Given the description of an element on the screen output the (x, y) to click on. 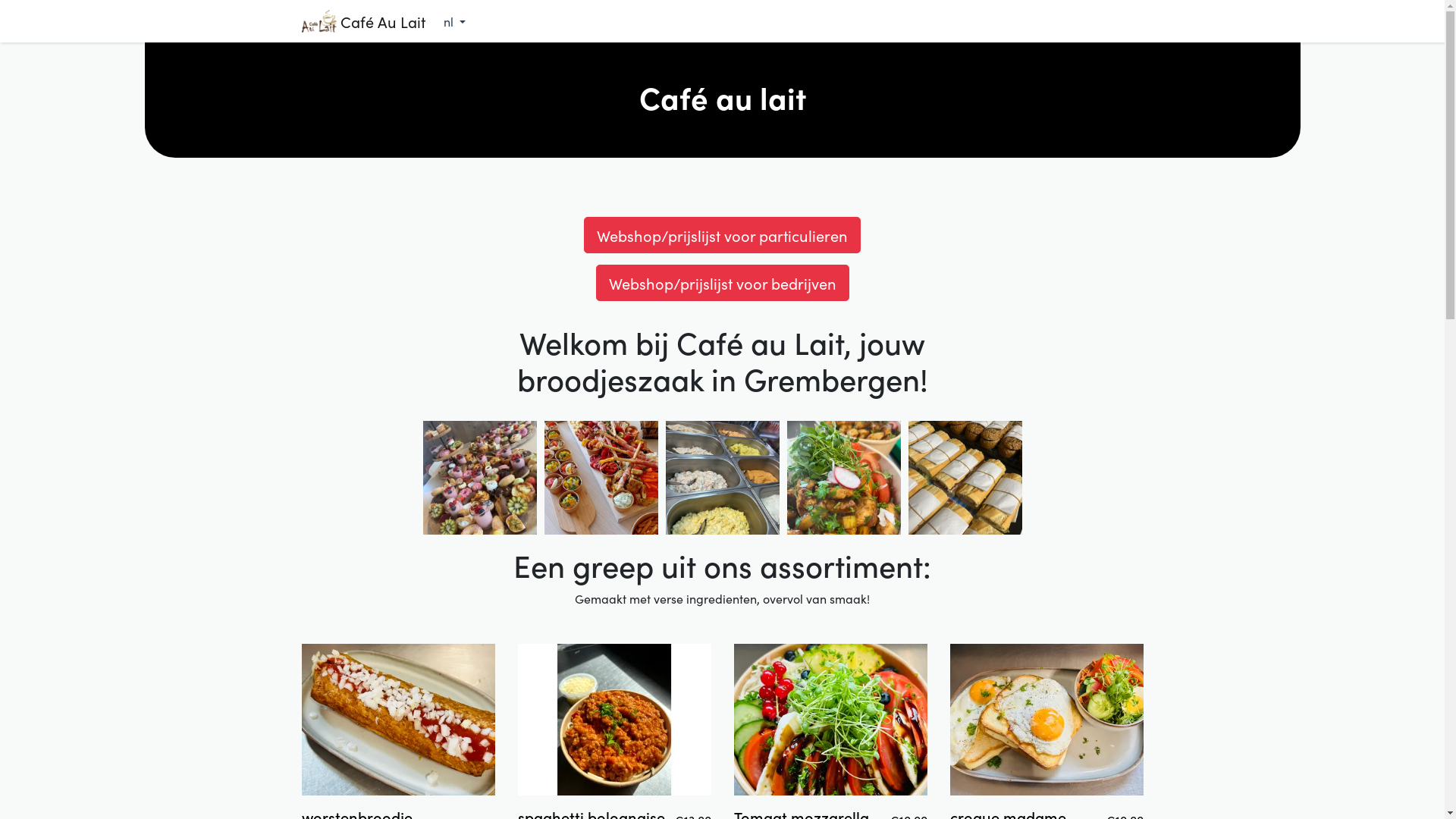
Webshop/prijslijst voor bedrijven Element type: text (722, 282)
Webshop/prijslijst voor particulieren Element type: text (721, 234)
nl Element type: text (454, 21)
